Given the description of an element on the screen output the (x, y) to click on. 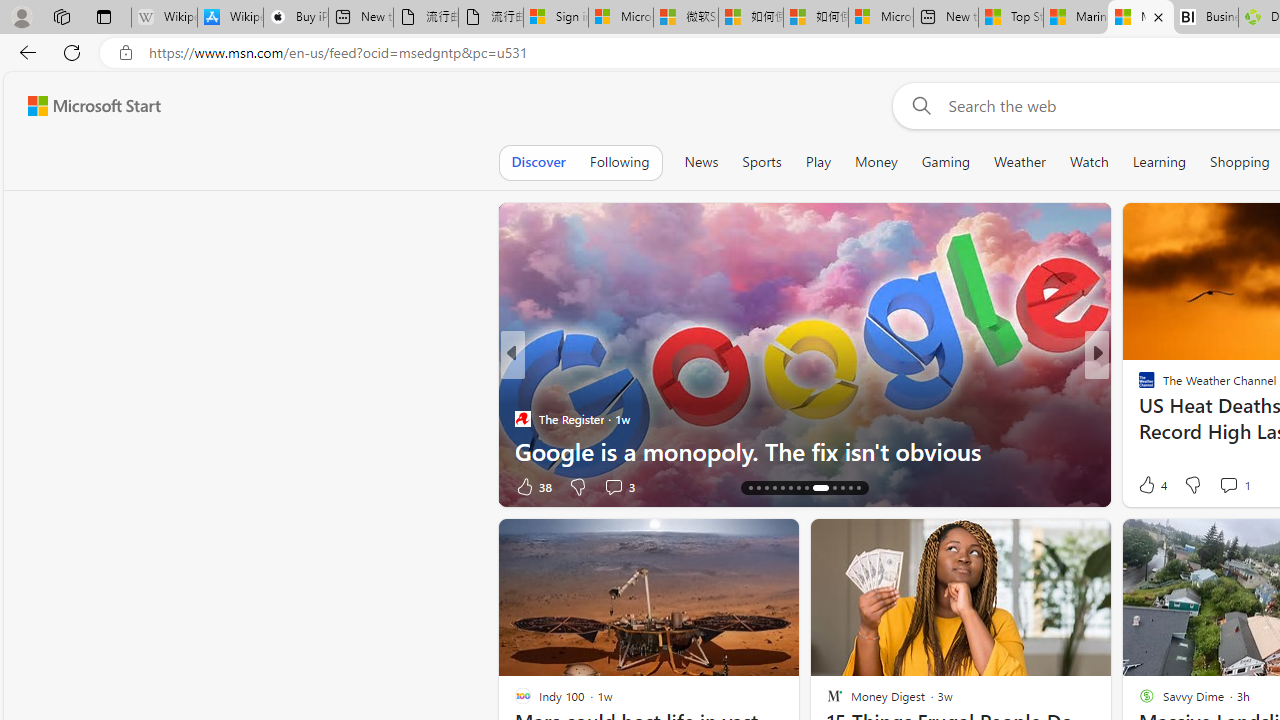
View comments 13 Comment (11, 485)
AutomationID: tab-24 (842, 487)
13 Like (1149, 486)
ChaChingQueen (1138, 386)
AutomationID: tab-26 (857, 487)
AutomationID: tab-18 (782, 487)
View comments 53 Comment (11, 485)
AutomationID: tab-14 (750, 487)
View comments 2 Comment (1234, 486)
You're following MSNBC (445, 490)
